Given the description of an element on the screen output the (x, y) to click on. 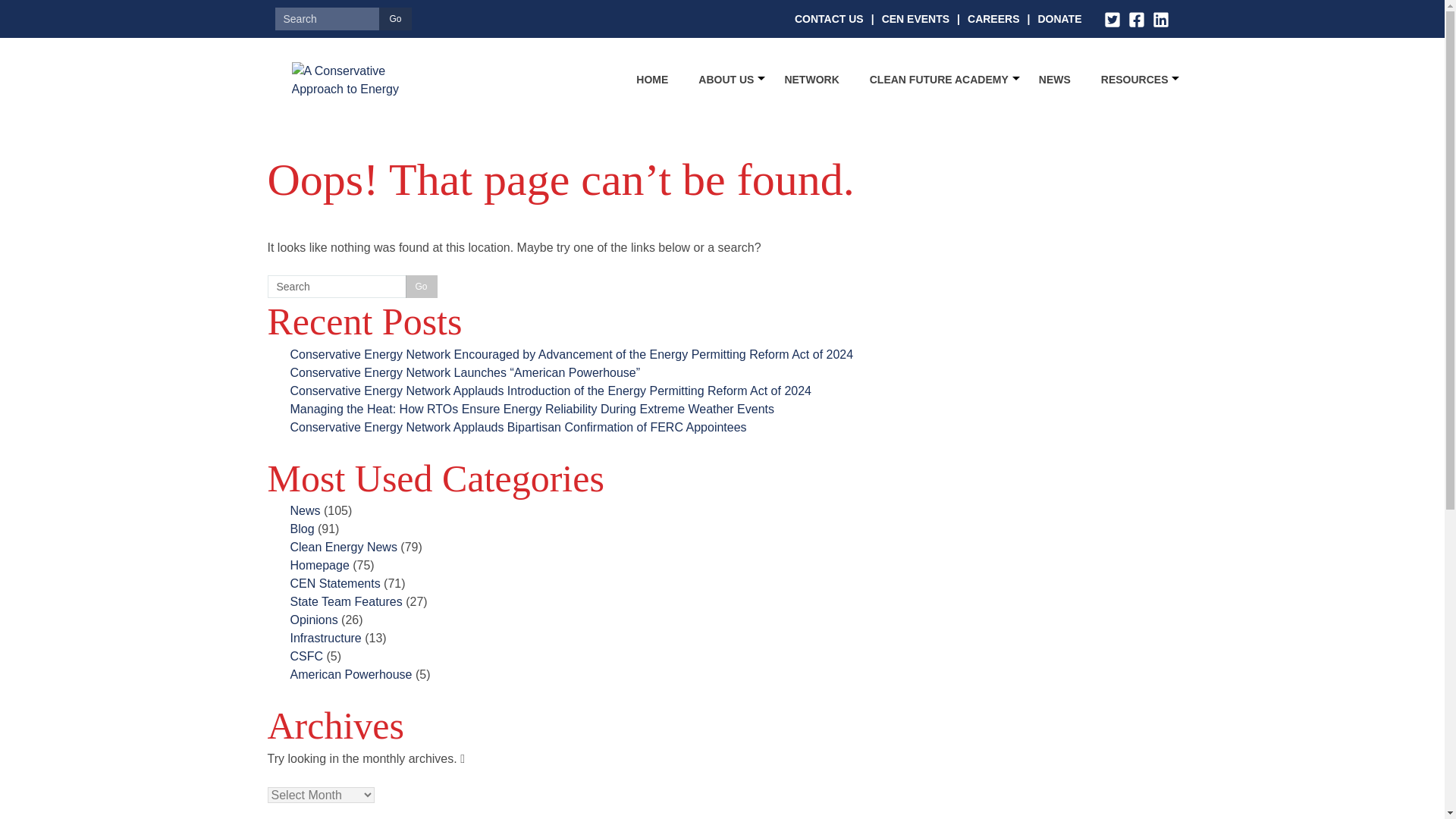
CONTACT US (828, 18)
DONATE (1058, 18)
HOME (652, 79)
NEWS (1054, 79)
NETWORK (811, 79)
RESOURCES (1134, 79)
Go (394, 18)
CLEAN FUTURE ACADEMY (939, 79)
ABOUT US (726, 79)
